Given the description of an element on the screen output the (x, y) to click on. 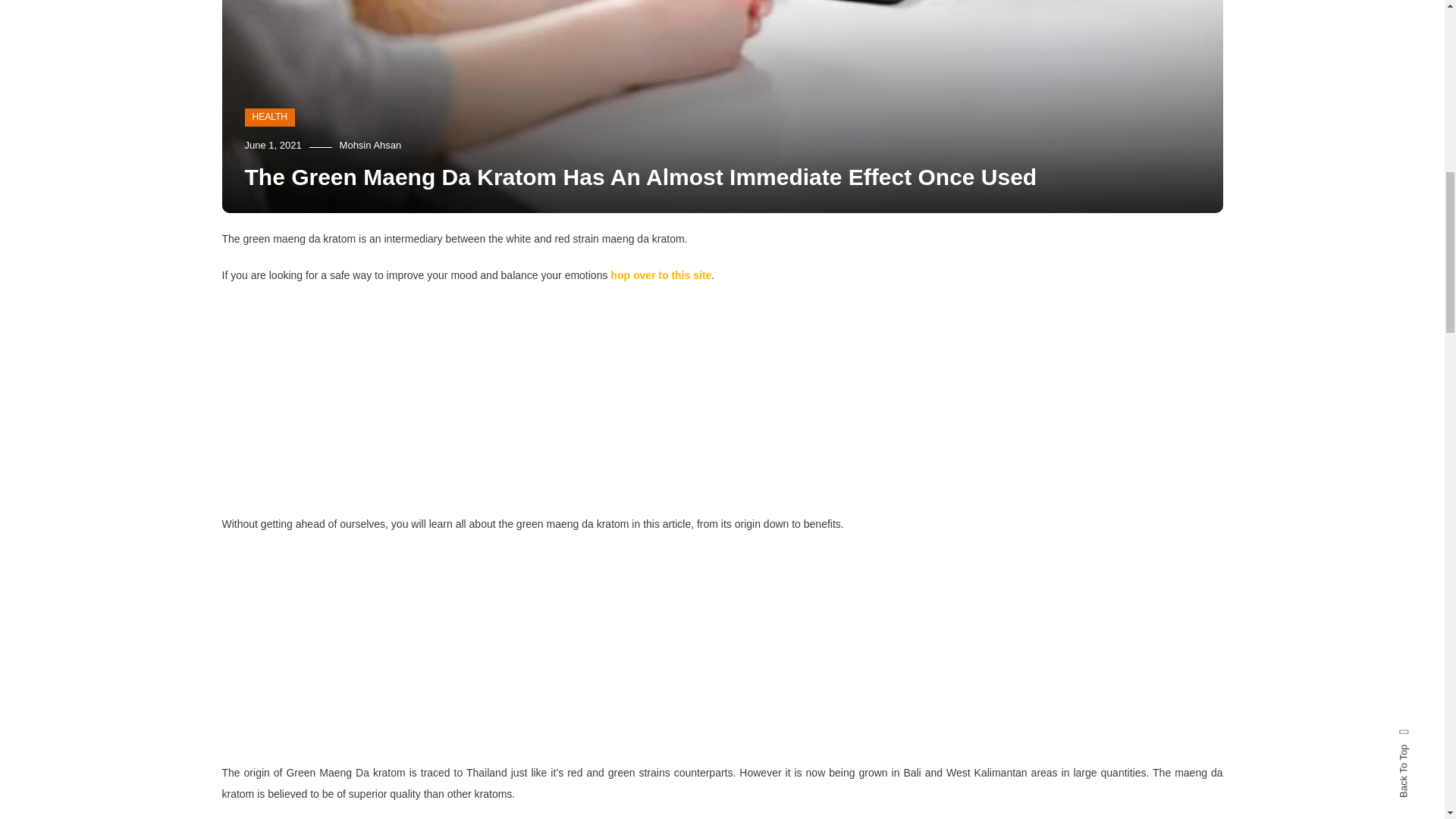
June 1, 2021 (272, 144)
HEALTH (269, 117)
Mohsin Ahsan (370, 144)
hop over to this site (660, 275)
